Given the description of an element on the screen output the (x, y) to click on. 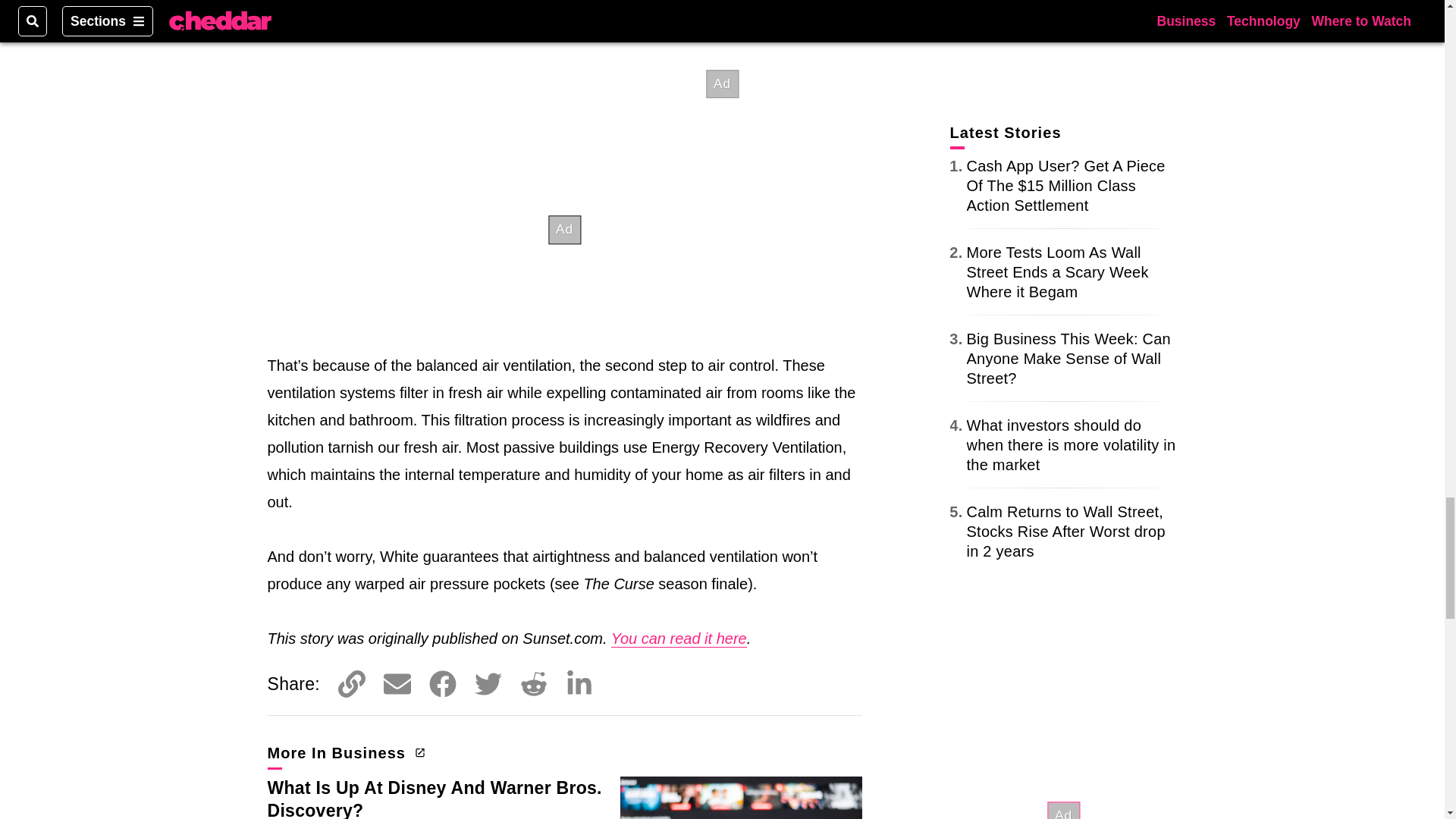
What Is Up At Disney And Warner Bros. Discovery? (433, 798)
More In Business (344, 752)
You can read it here (678, 638)
